Given the description of an element on the screen output the (x, y) to click on. 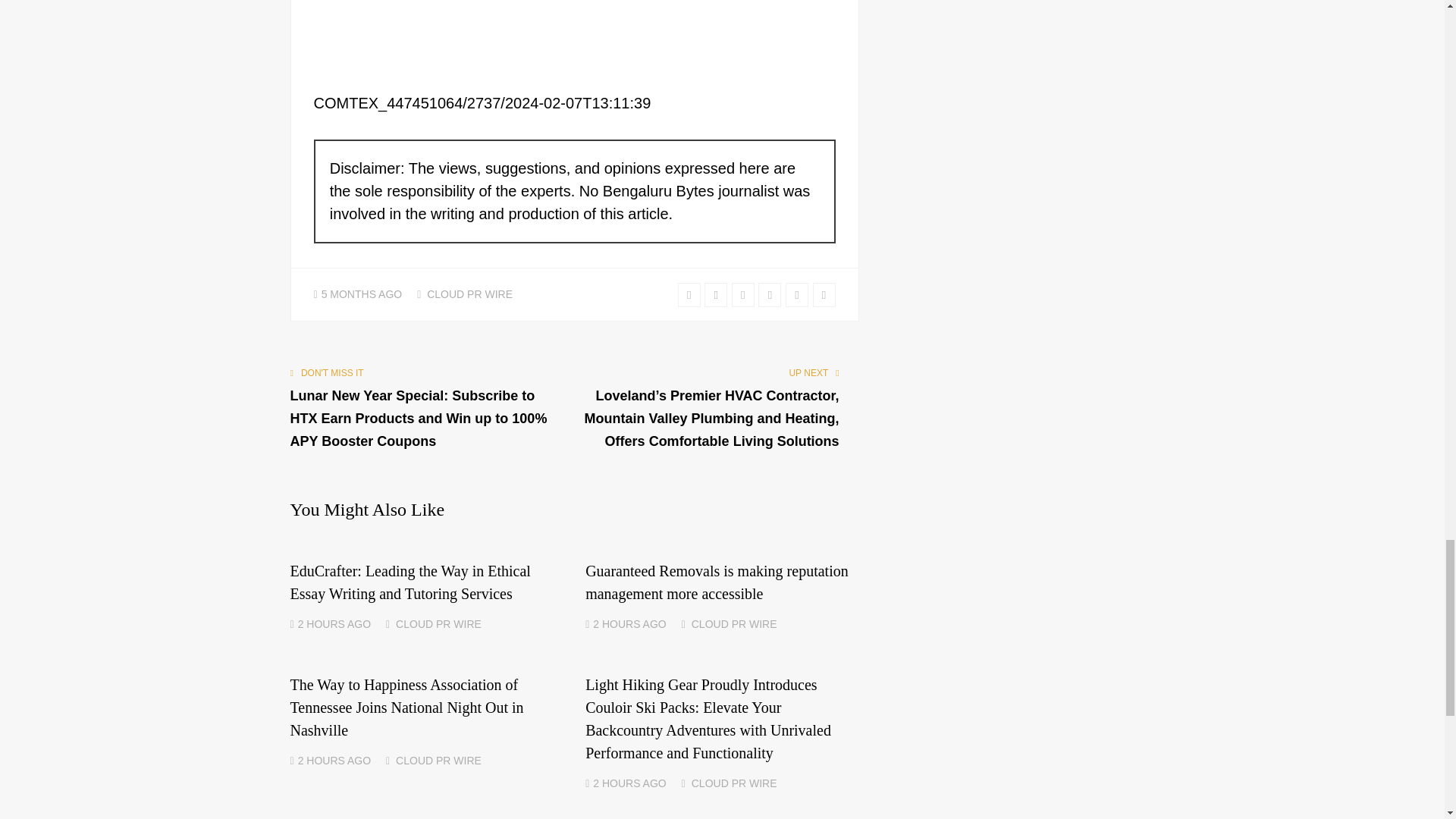
CLOUD PR WIRE (438, 760)
Email (823, 294)
2 HOURS (321, 623)
CLOUD PR WIRE (734, 783)
2 HOURS (616, 623)
CLOUD PR WIRE (734, 623)
2 HOURS (616, 783)
Twitter (689, 294)
CLOUD PR WIRE (469, 294)
CLOUD PR WIRE (438, 623)
2 HOURS (321, 760)
